Given the description of an element on the screen output the (x, y) to click on. 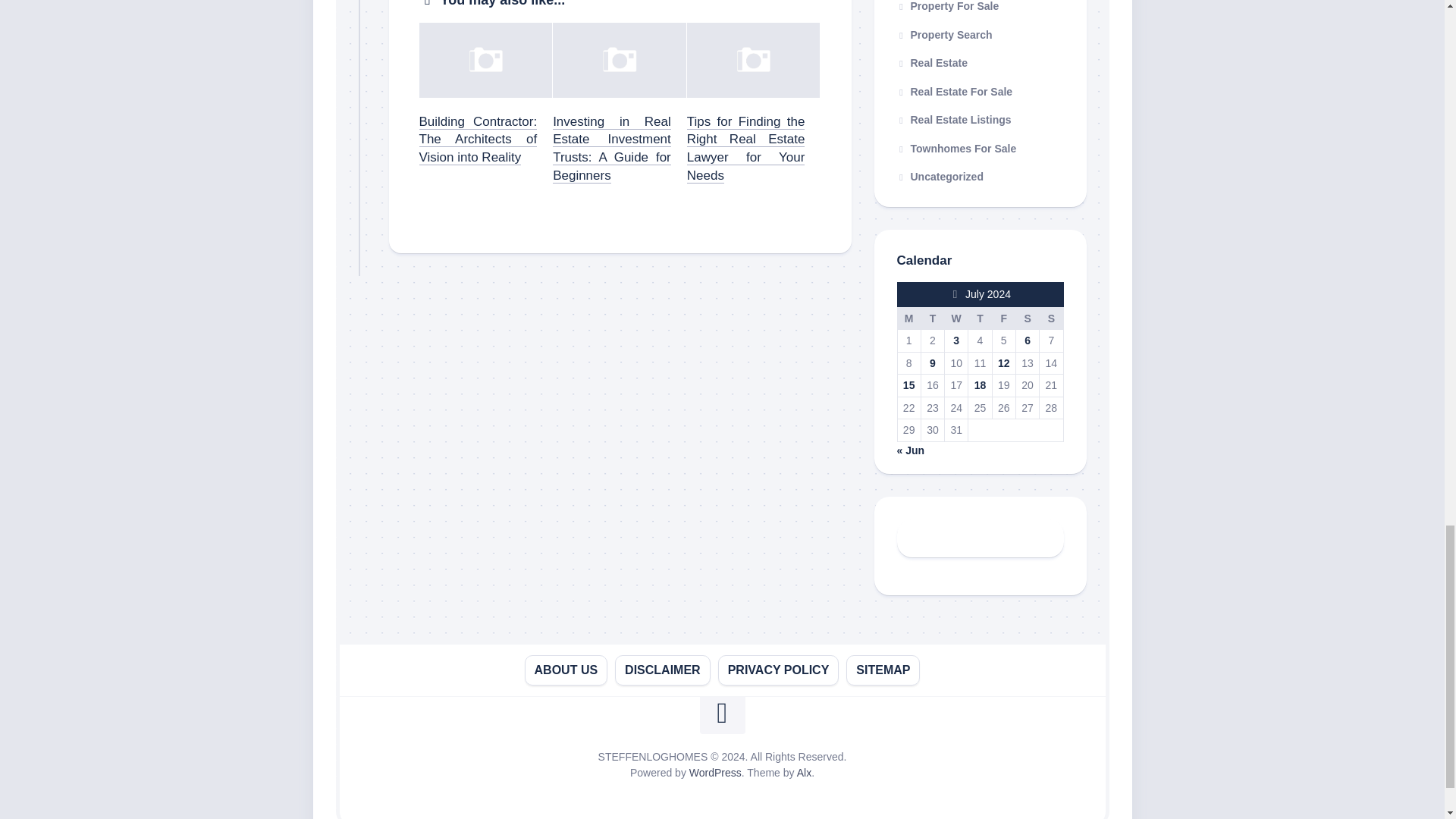
Saturday (1026, 318)
Friday (1002, 318)
Tuesday (931, 318)
Wednesday (956, 318)
Thursday (979, 318)
Monday (908, 318)
Sunday (1050, 318)
